Given the description of an element on the screen output the (x, y) to click on. 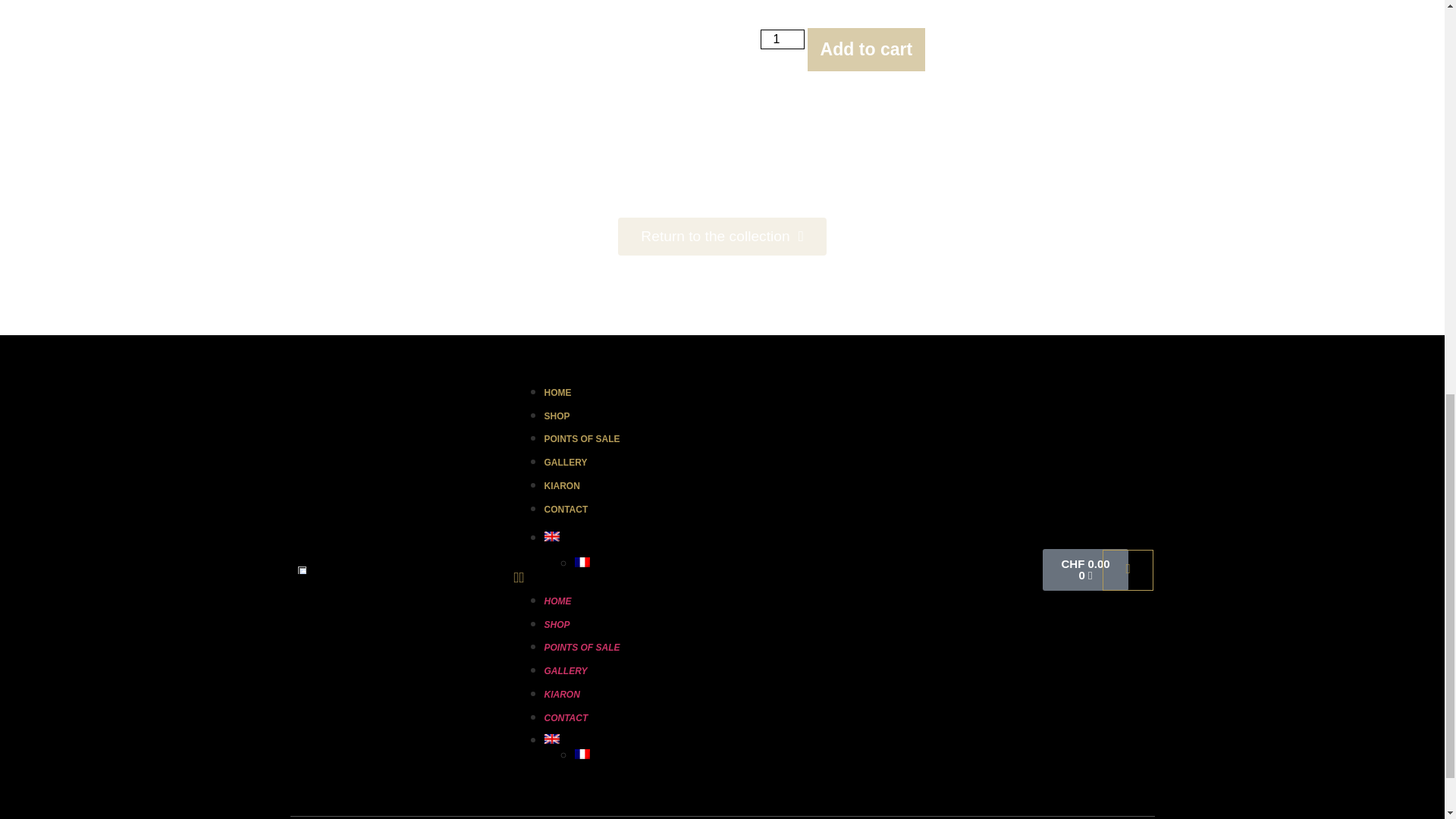
1 (781, 39)
